Given the description of an element on the screen output the (x, y) to click on. 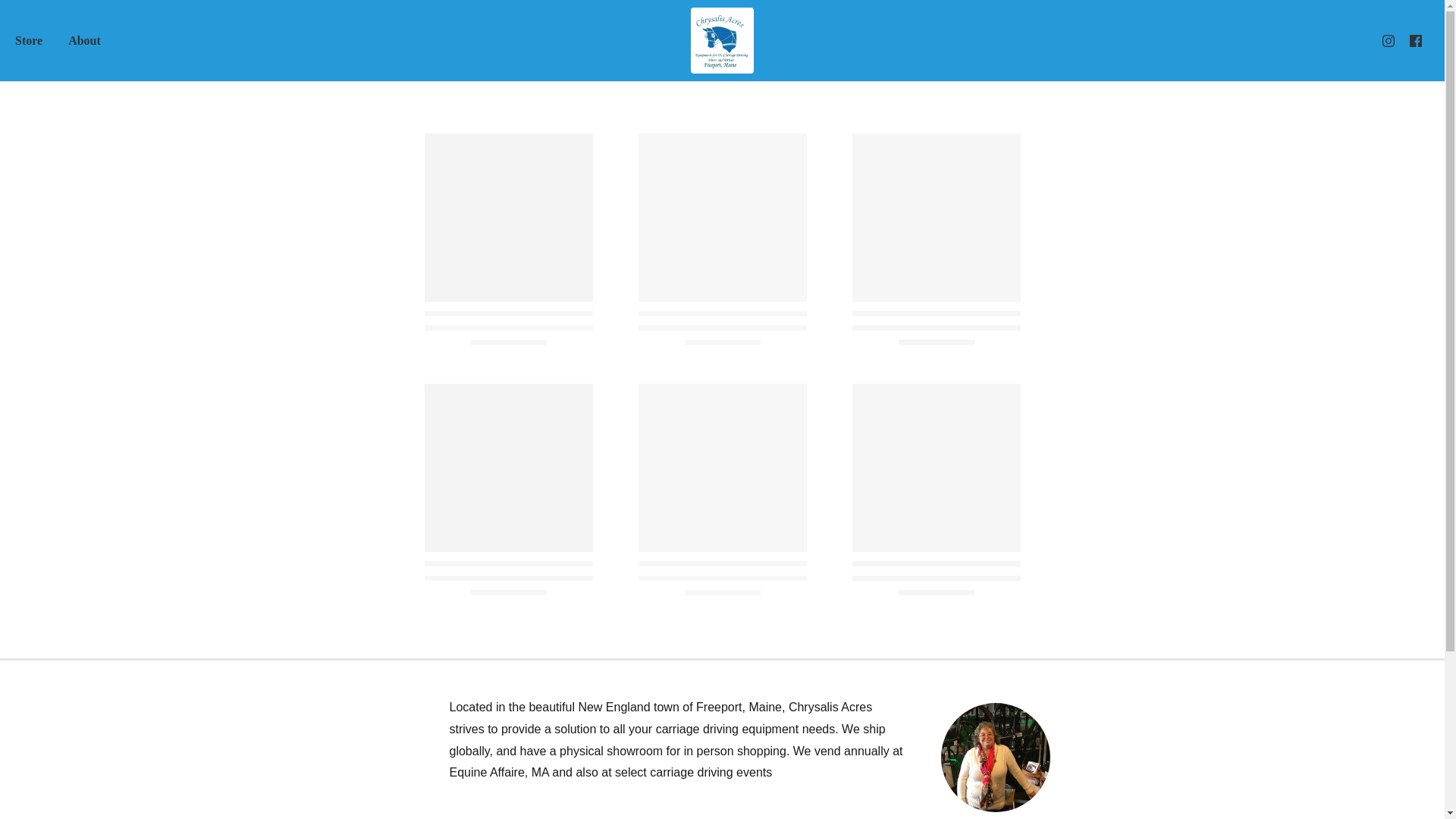
About (84, 39)
Store (28, 39)
